Given the description of an element on the screen output the (x, y) to click on. 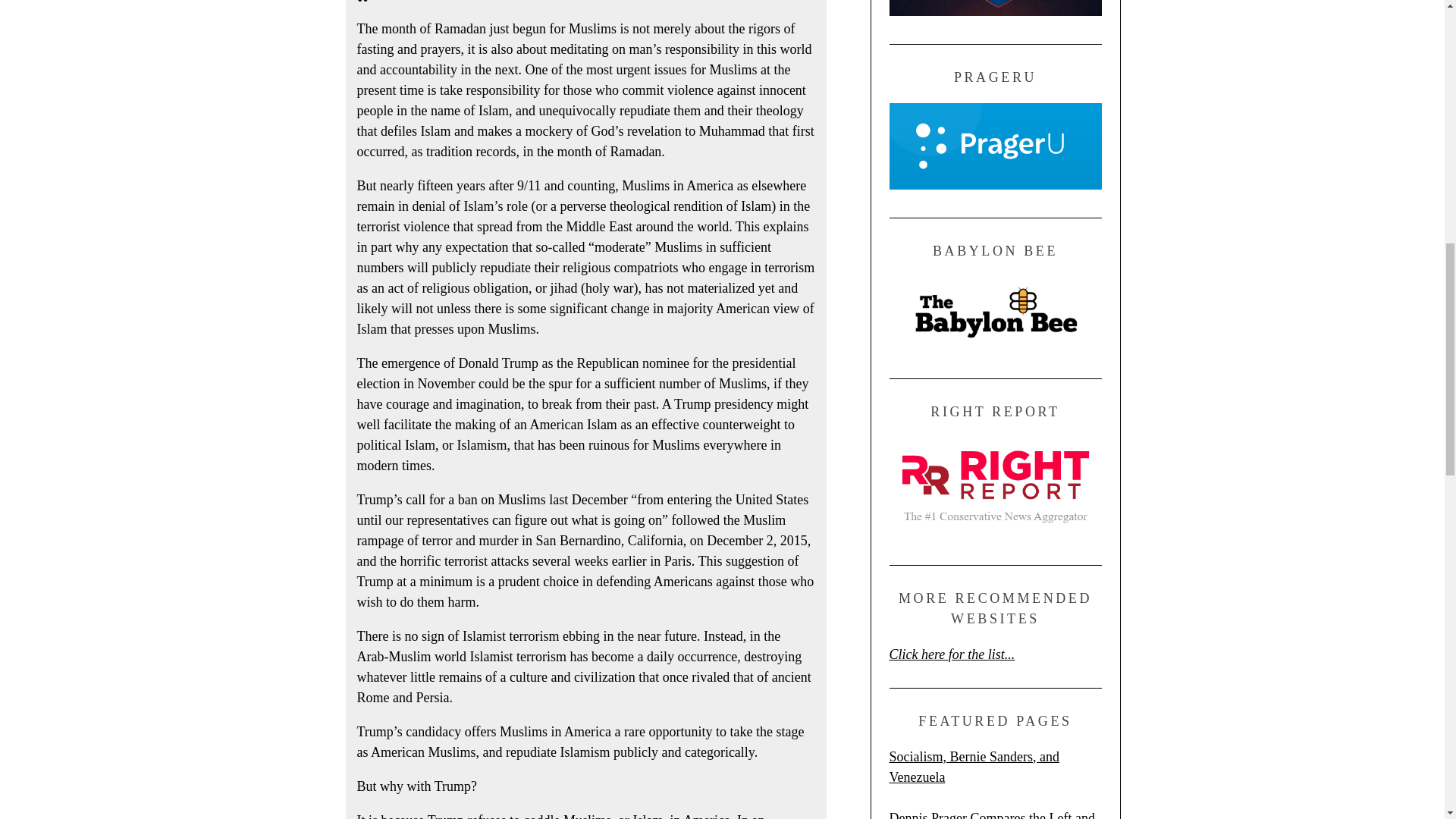
Click here for the list... (951, 654)
Socialism, Bernie Sanders, and Venezuela (973, 767)
babylon bee (994, 345)
Dennis Prager Compares the Left and the Right (991, 814)
Right Report (994, 532)
PragerU (994, 185)
